Given the description of an element on the screen output the (x, y) to click on. 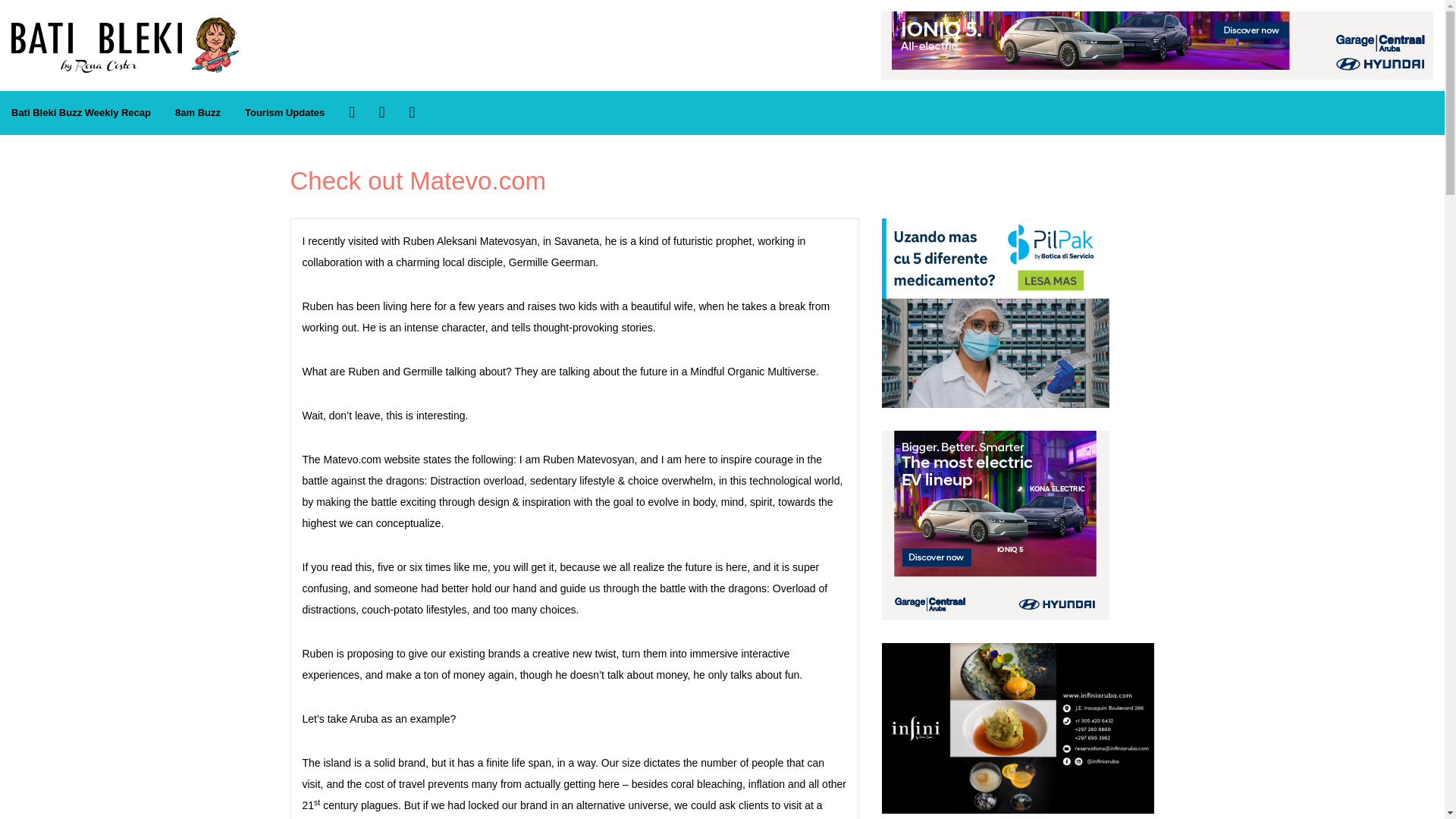
8am Buzz (197, 112)
Bati Bleki Buzz Weekly Recap (80, 112)
Download app in Google Play (411, 112)
Go to homepage (124, 25)
Download app in App Store (382, 112)
Tourism Updates (284, 112)
Go to my Facebook Page (351, 112)
